Given the description of an element on the screen output the (x, y) to click on. 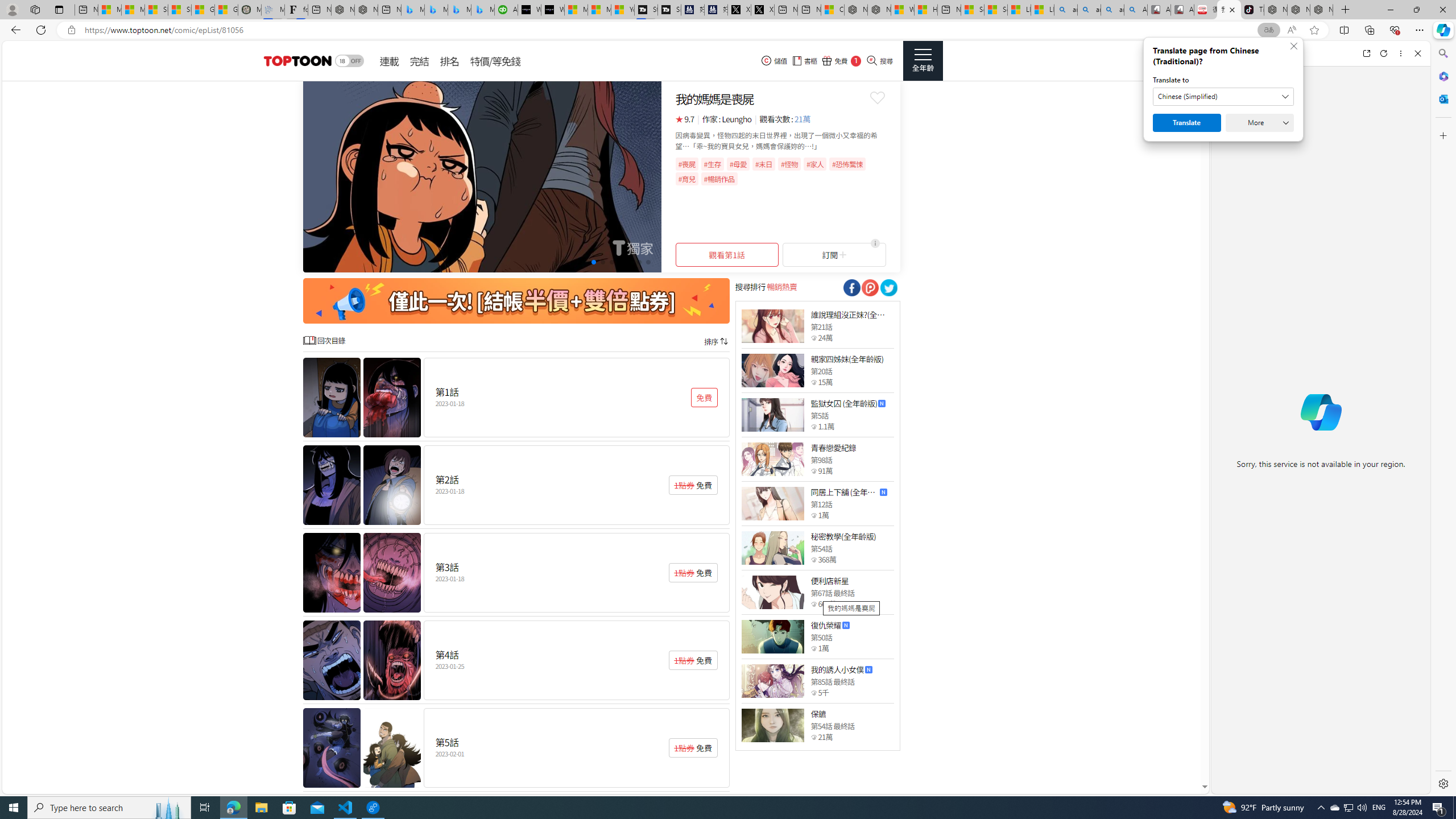
Class: swiper-slide swiper-slide-prev (481, 176)
amazon - Search Images (1112, 9)
Go to slide 6 (611, 261)
Go to slide 7 (620, 261)
Go to slide 1 (566, 261)
Customize (1442, 135)
Microsoft Bing Travel - Stays in Bangkok, Bangkok, Thailand (435, 9)
